Given the description of an element on the screen output the (x, y) to click on. 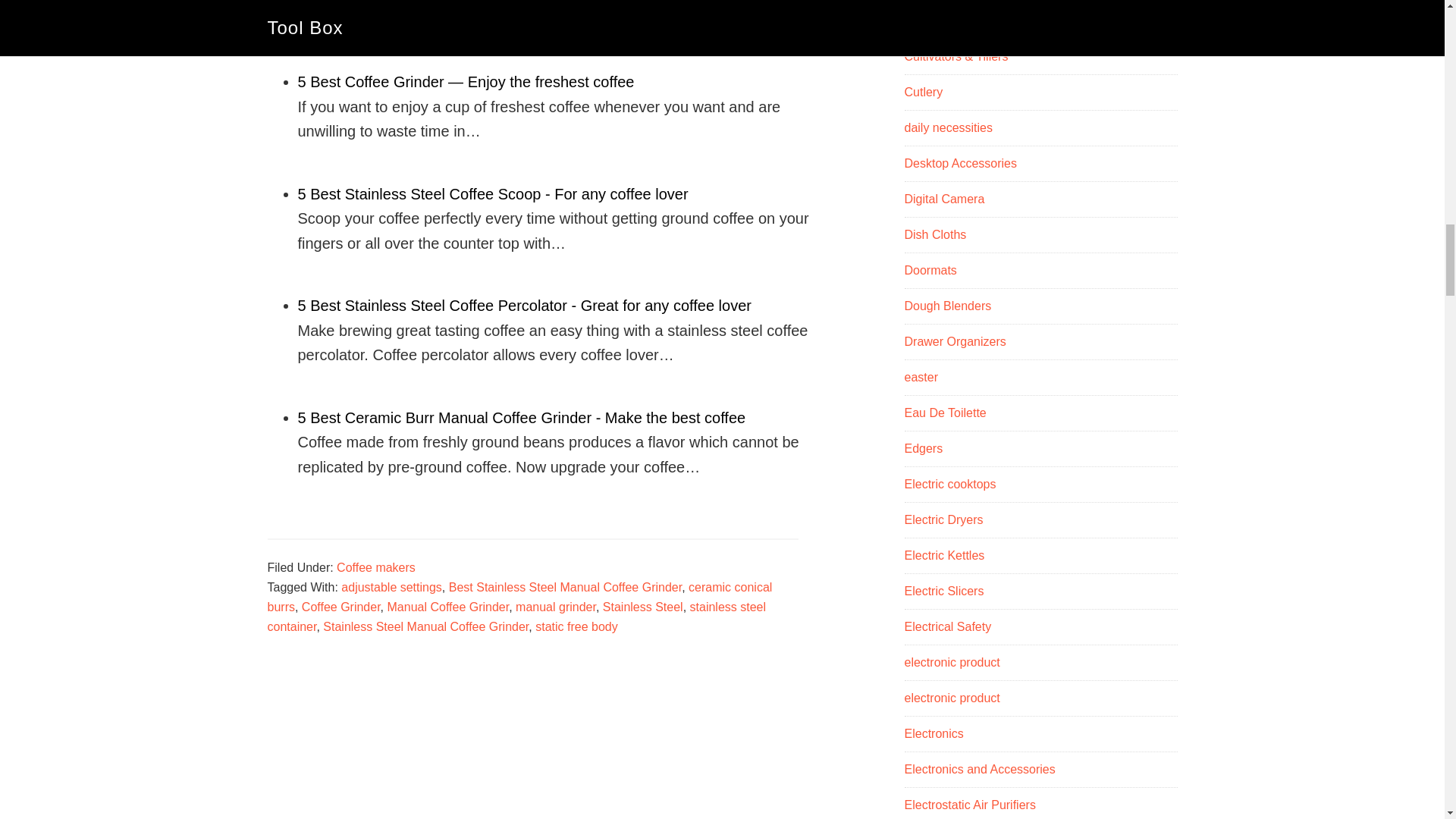
5 Best Stainless Steel Coffee Scoop - For any coffee lover (492, 193)
